Given the description of an element on the screen output the (x, y) to click on. 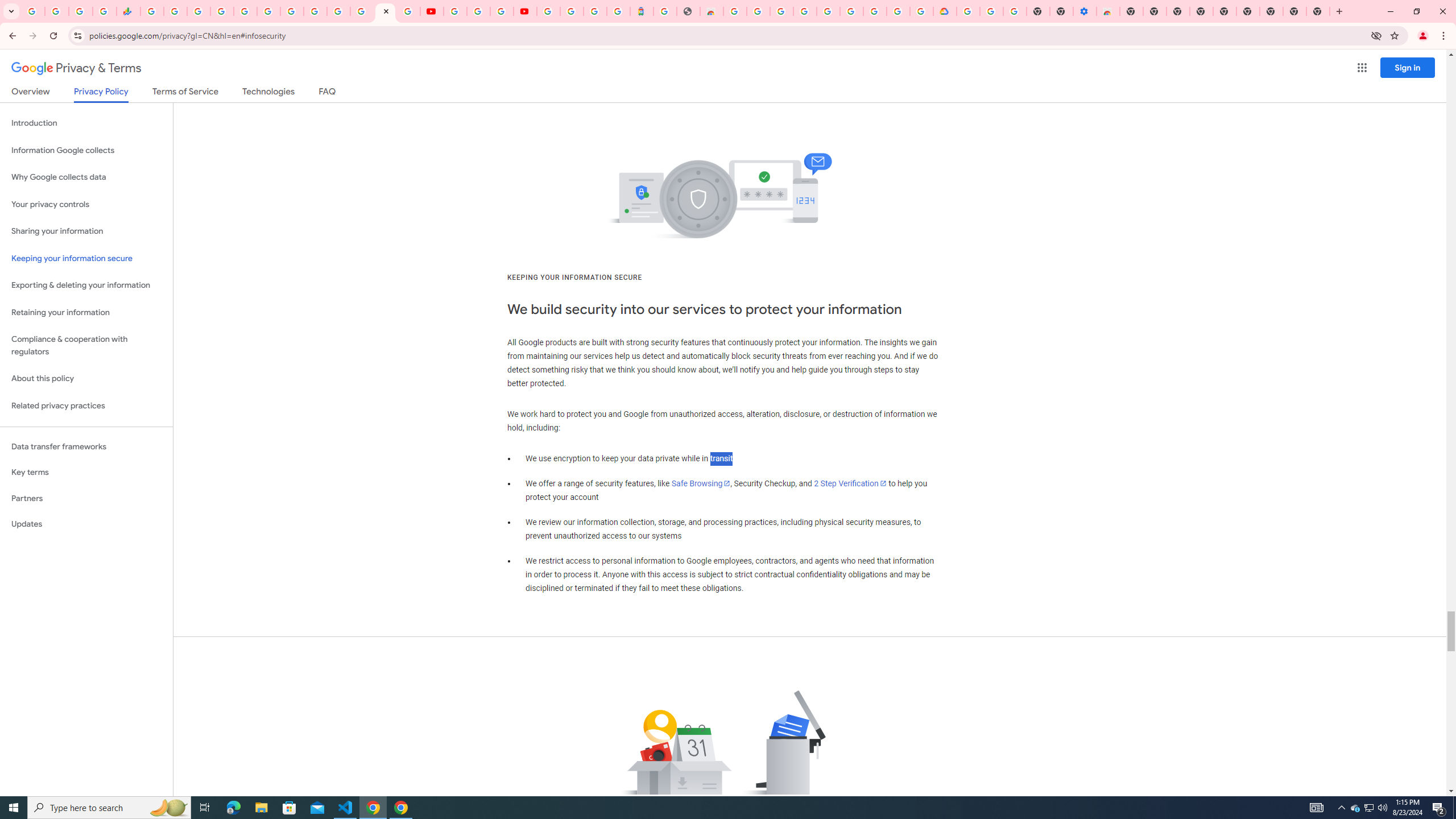
Content Creator Programs & Opportunities - YouTube Creators (524, 11)
Turn cookies on or off - Computer - Google Account Help (1015, 11)
FAQ (327, 93)
Google Workspace Admin Community (32, 11)
2 Step Verification (849, 483)
Sign in - Google Accounts (571, 11)
Compliance & cooperation with regulators (86, 345)
Terms of Service (184, 93)
Sign in - Google Accounts (221, 11)
Atour Hotel - Google hotels (641, 11)
Privacy Policy (100, 94)
